Given the description of an element on the screen output the (x, y) to click on. 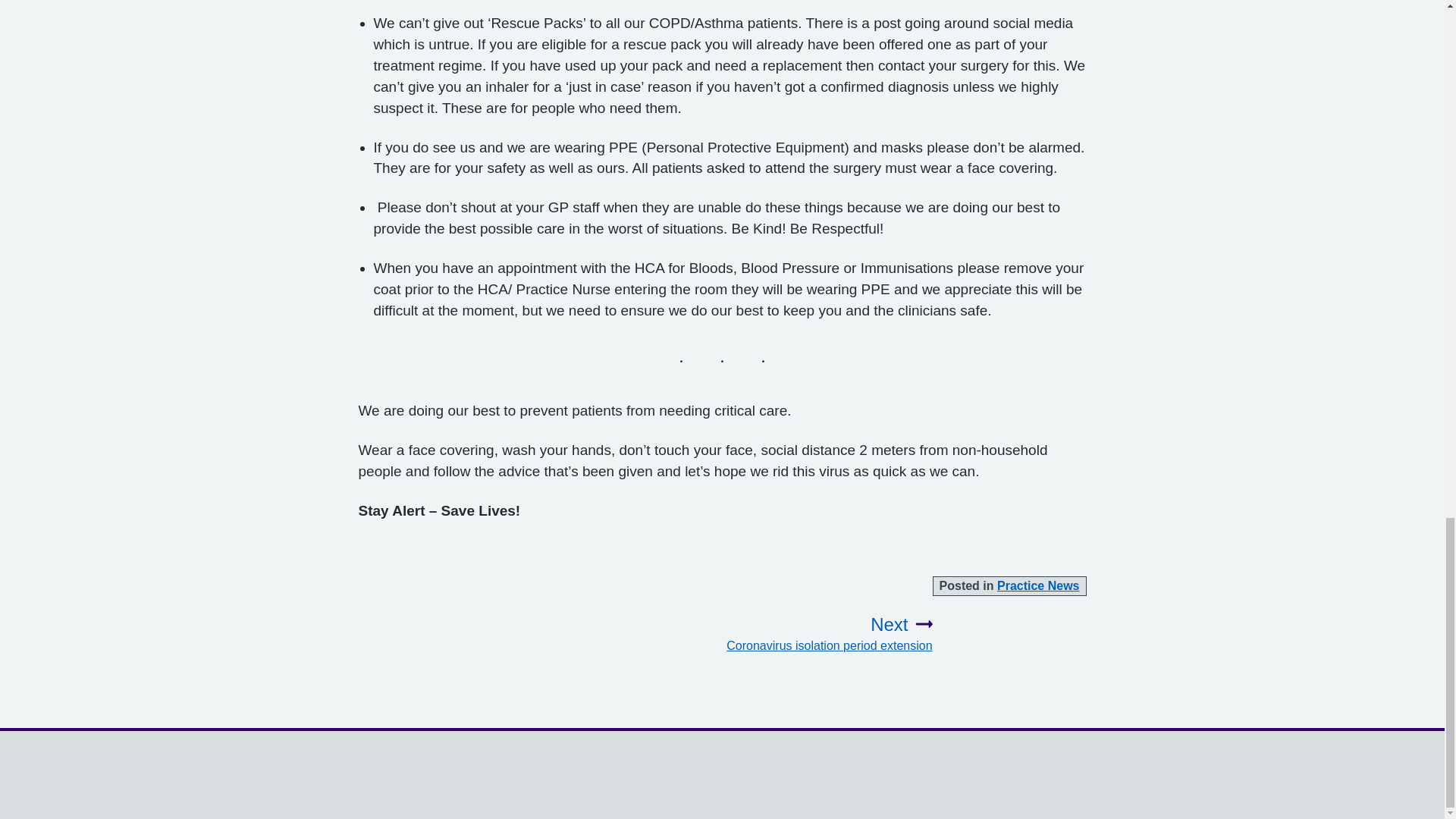
Practice News (823, 633)
